Given the description of an element on the screen output the (x, y) to click on. 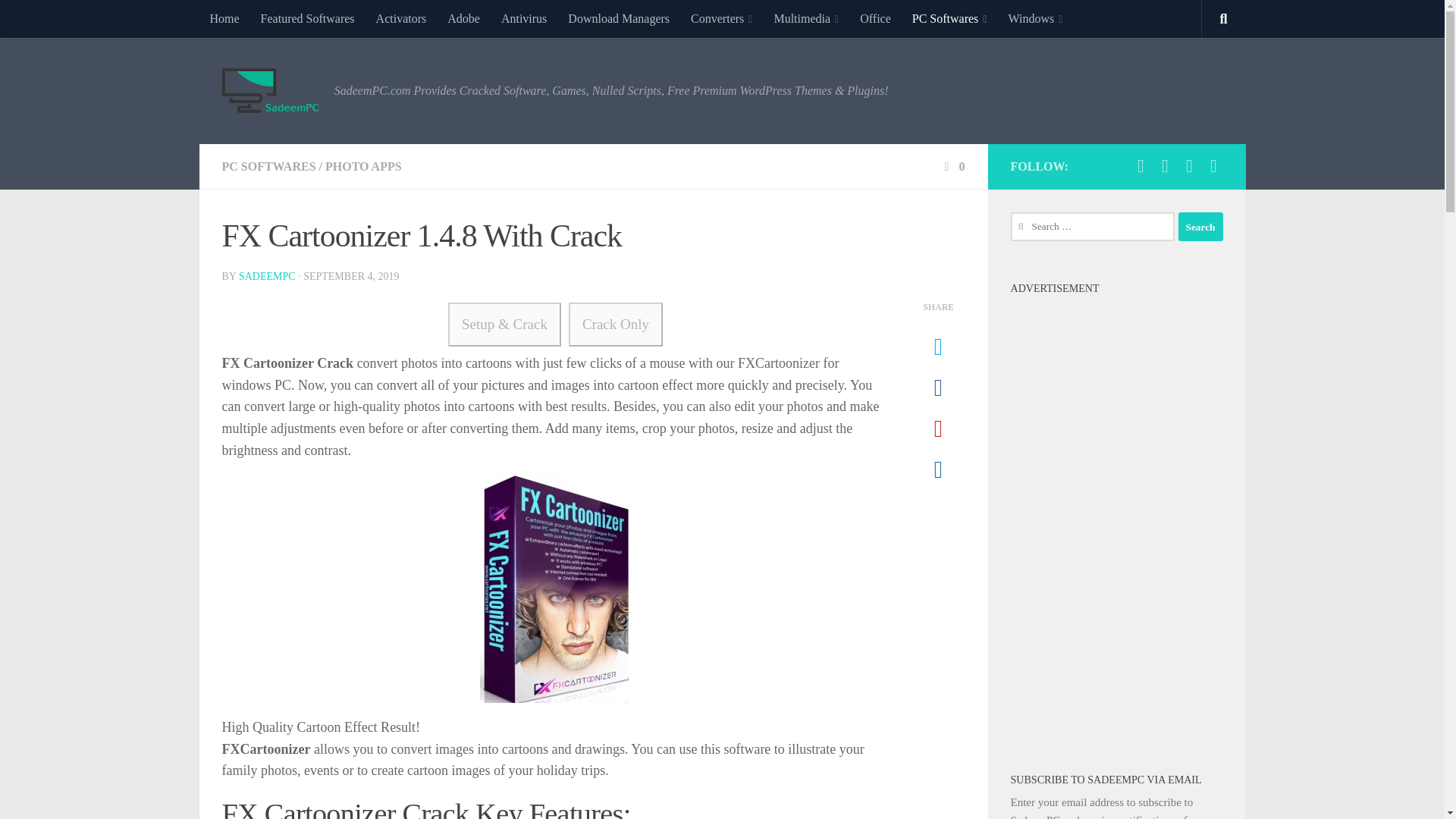
Search (1200, 226)
Search (1200, 226)
Skip to content (59, 20)
Posts by SadeemPC (266, 276)
